Given the description of an element on the screen output the (x, y) to click on. 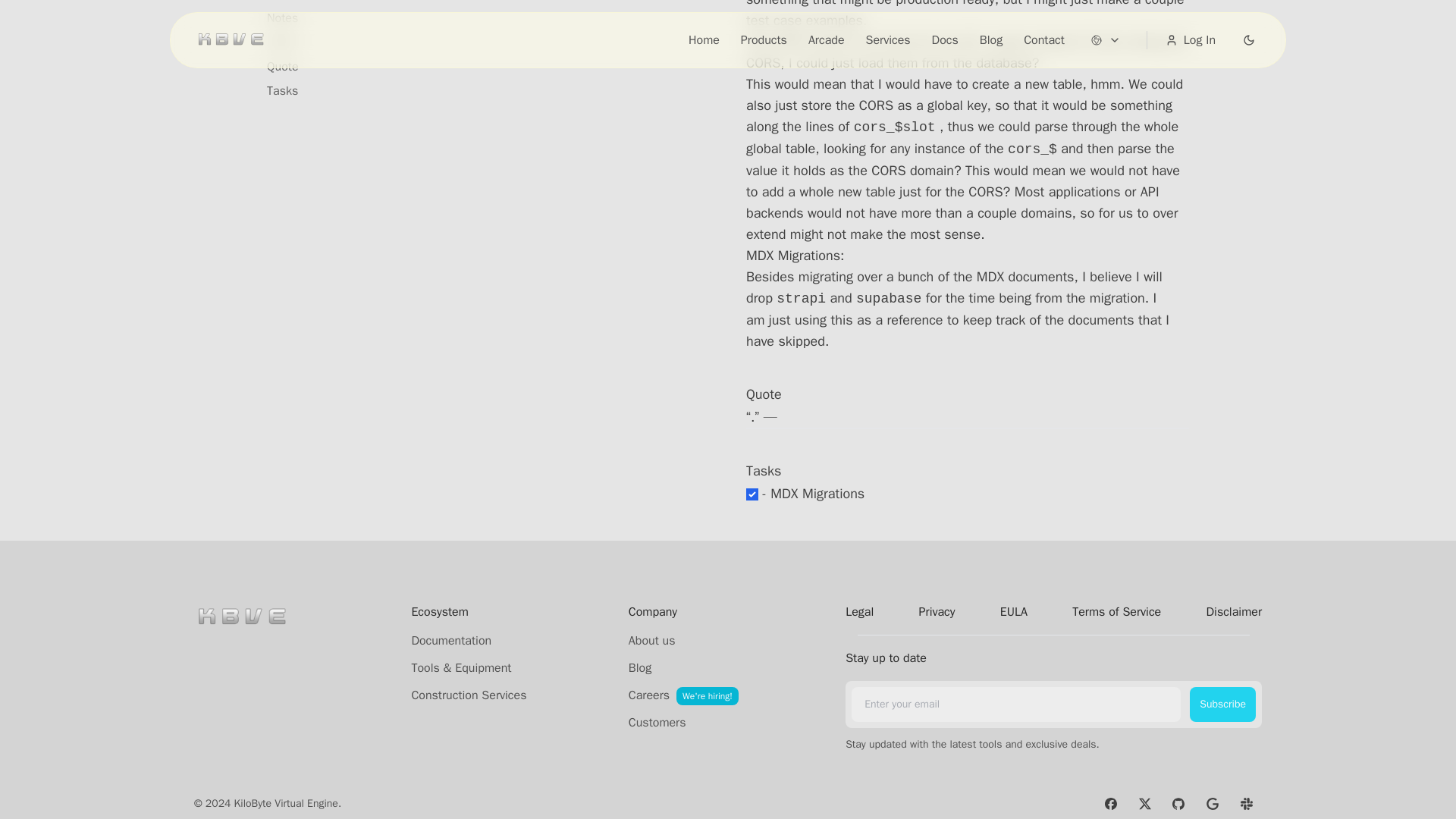
on (751, 494)
Privacy (936, 611)
Construction Services (467, 695)
Notes (282, 18)
Quote (282, 66)
2024 (280, 42)
Disclaimer (1232, 611)
Tasks (282, 90)
About us (651, 640)
Careers (648, 695)
Blog (639, 668)
Legal (859, 611)
Customers (656, 722)
Terms of Service (1115, 611)
EULA (1013, 611)
